Given the description of an element on the screen output the (x, y) to click on. 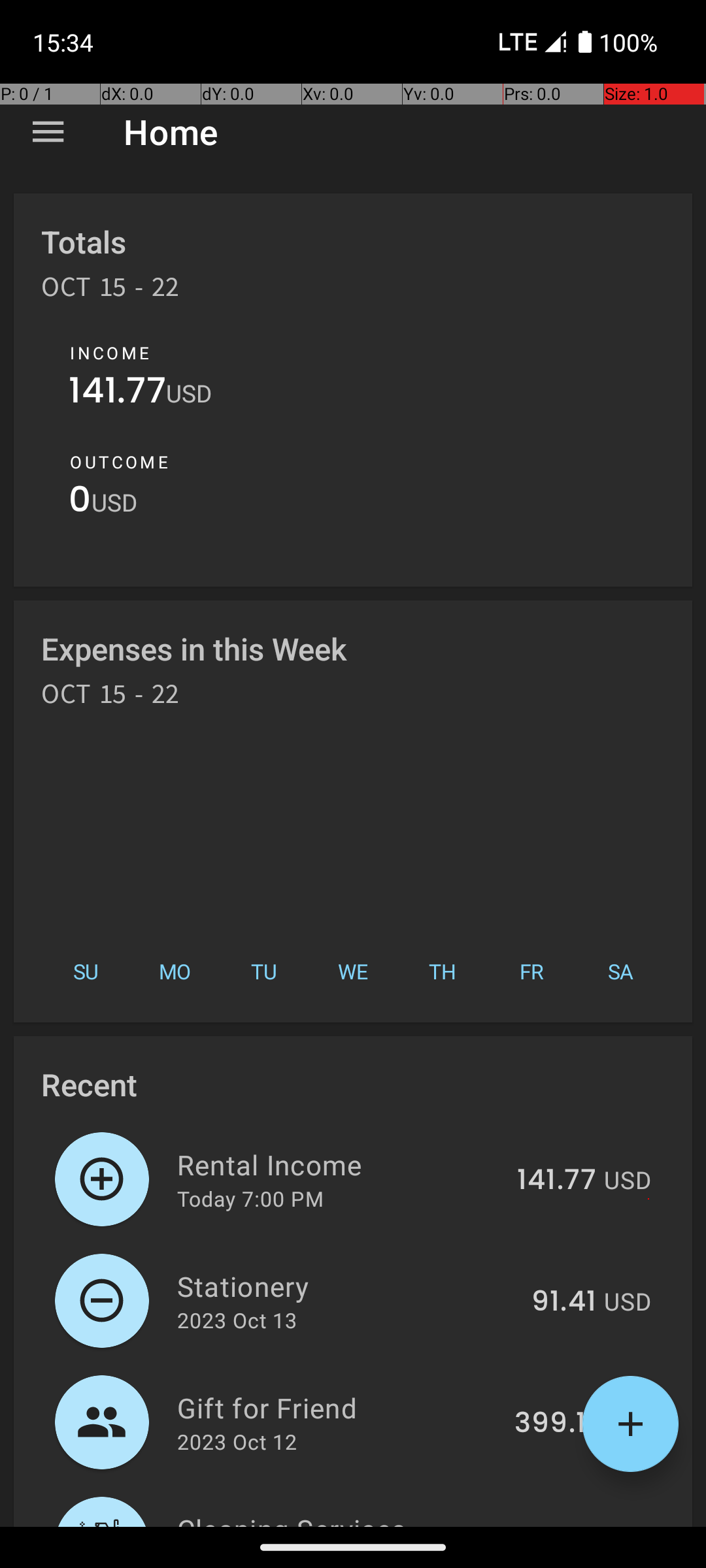
141.77 Element type: android.widget.TextView (117, 393)
Stationery Element type: android.widget.TextView (346, 1285)
91.41 Element type: android.widget.TextView (563, 1301)
Gift for Friend Element type: android.widget.TextView (338, 1407)
399.11 Element type: android.widget.TextView (554, 1423)
Cleaning Services Element type: android.widget.TextView (341, 1518)
72.87 Element type: android.widget.TextView (558, 1524)
